Given the description of an element on the screen output the (x, y) to click on. 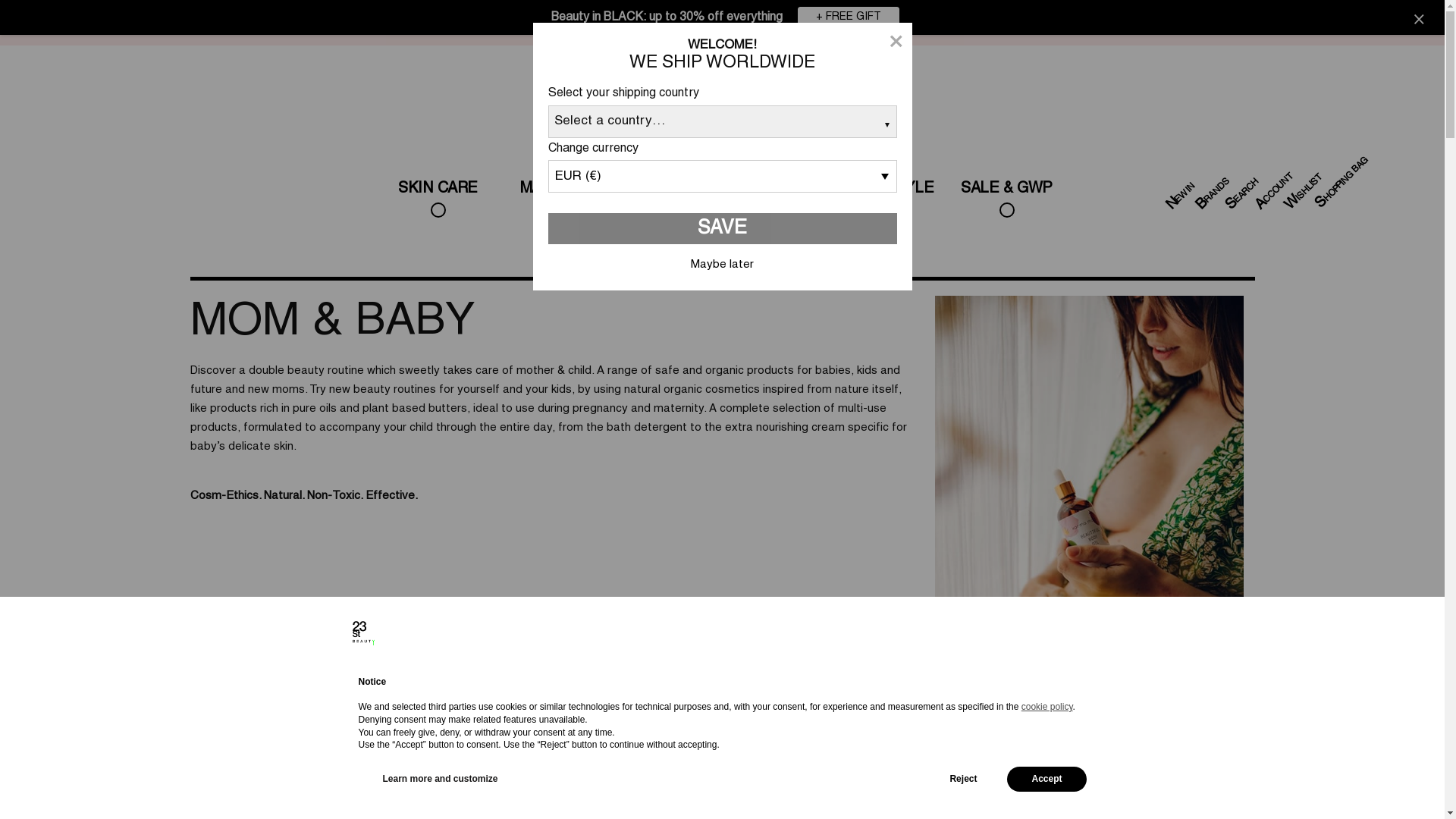
SEARCH Element type: text (1241, 181)
ITALIANO Element type: text (1355, 9)
Body Tools Element type: text (852, 722)
Maybe later Element type: text (721, 264)
SALE & GWP Element type: text (1006, 199)
Bath & Shower Element type: text (243, 722)
BATH & BODY Element type: text (115, 189)
Reject Element type: text (963, 778)
cookie policy Element type: text (1047, 706)
Travel Size Element type: text (1080, 722)
23 ST BEAUTY Element type: text (35, 189)
Remedies & Balms Element type: text (776, 722)
Mom & Baby Element type: text (1156, 722)
Deodorants Element type: text (623, 722)
BATH & BODY Element type: text (664, 199)
Natural Fragrances Element type: text (927, 722)
Beauty box & Gift set Element type: text (1004, 722)
Soaps Element type: text (319, 722)
Learn more and customize Element type: text (439, 778)
SKIN CARE Element type: text (437, 199)
BRANDS Element type: text (1212, 181)
LIFESTYLE Element type: text (892, 199)
ENGLISH Element type: text (1408, 9)
Sun care Element type: text (1232, 722)
USD ($) Element type: text (1286, 9)
HAIRCARE Element type: text (778, 199)
Hands & Nails care Element type: text (547, 722)
SHOPPING BAG Element type: text (1345, 160)
WISHLIST Element type: text (1304, 176)
Accept Element type: text (1046, 778)
Body lotions & Body oils Element type: text (465, 733)
Body scrub & Exfoliants Element type: text (395, 722)
Oral Hygiene Element type: text (700, 722)
NEW IN Element type: text (1178, 187)
ACCOUNT Element type: text (1275, 176)
SAVE Element type: text (721, 228)
MAKEUP Element type: text (551, 199)
